Given the description of an element on the screen output the (x, y) to click on. 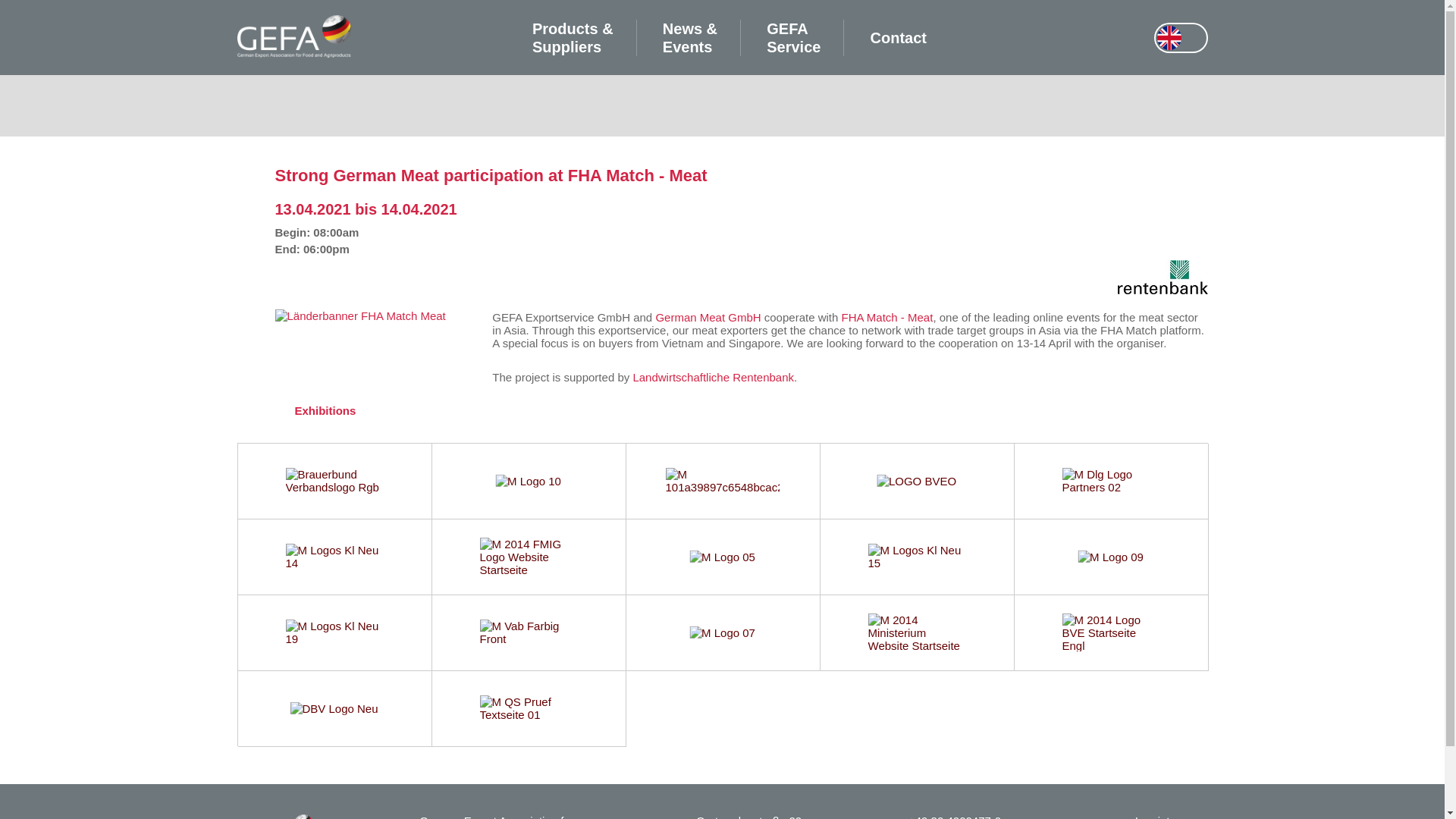
M Logos Kl Neu 14 (333, 556)
M Logo 10 (527, 481)
M Dlg Logo Partners 02 (1109, 480)
M 101a39897c6548bcac2ec8ab4966c3fd (721, 480)
20140905 Rentenbank Logo (1163, 289)
English (1169, 37)
LOGO BVEO (916, 481)
Brauerbund Verbandslogo Rgb (333, 480)
